Given the description of an element on the screen output the (x, y) to click on. 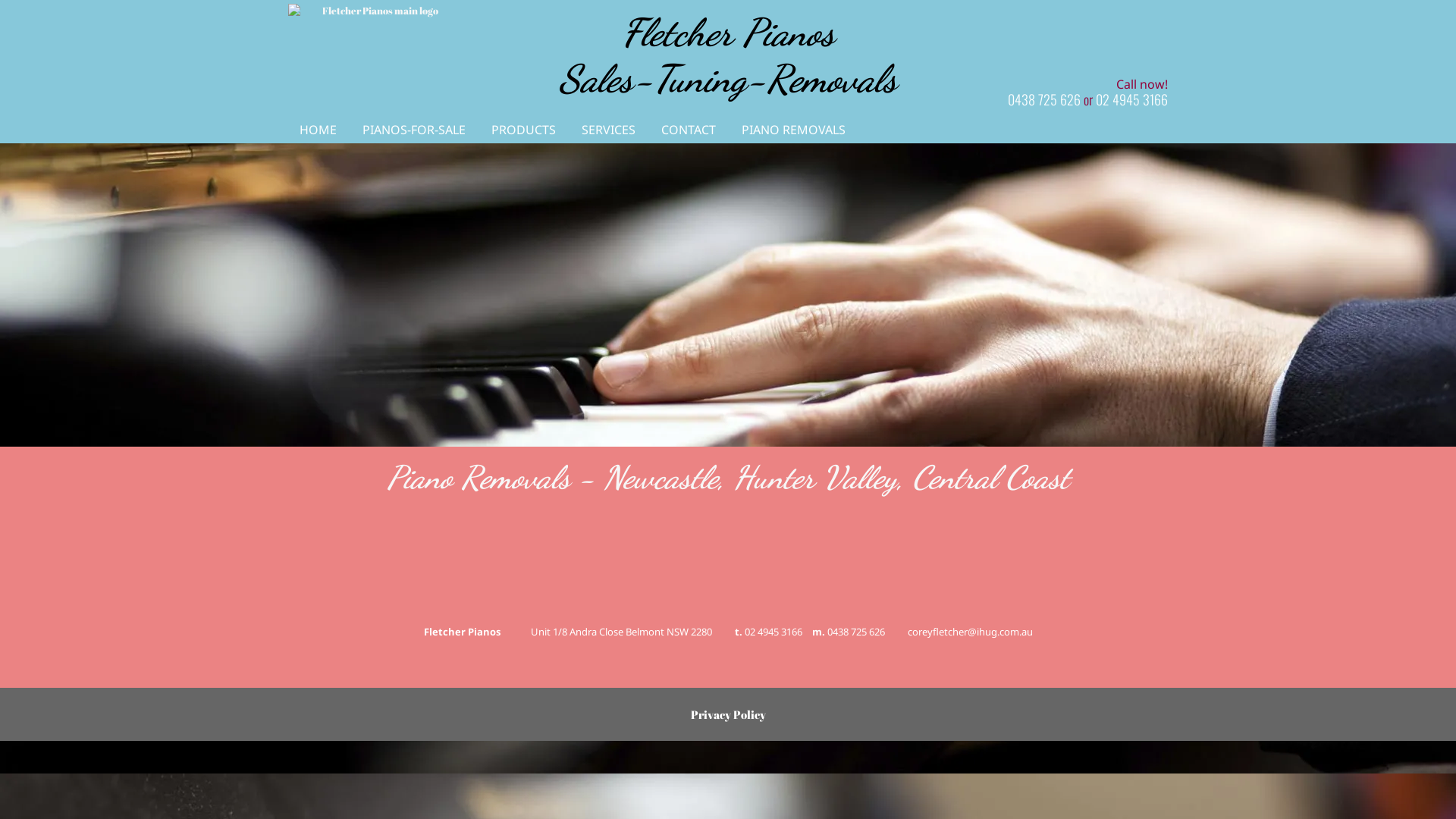
SERVICES Element type: text (608, 129)
HOME Element type: text (317, 129)
PIANOS-FOR-SALE Element type: text (413, 129)
CONTACT Element type: text (688, 129)
PIANO REMOVALS Element type: text (793, 129)
02 4945 3166 Element type: text (1131, 99)
0438 725 626 Element type: text (1043, 99)
Privacy Policy Element type: text (727, 713)
PRODUCTS Element type: text (523, 129)
02 4945 3166 Element type: text (774, 631)
coreyfletcher@ihug.com.au Element type: text (969, 631)
Fletcher Pianos main logo Element type: hover (373, 10)
0438 725 626 Element type: text (855, 631)
